Given the description of an element on the screen output the (x, y) to click on. 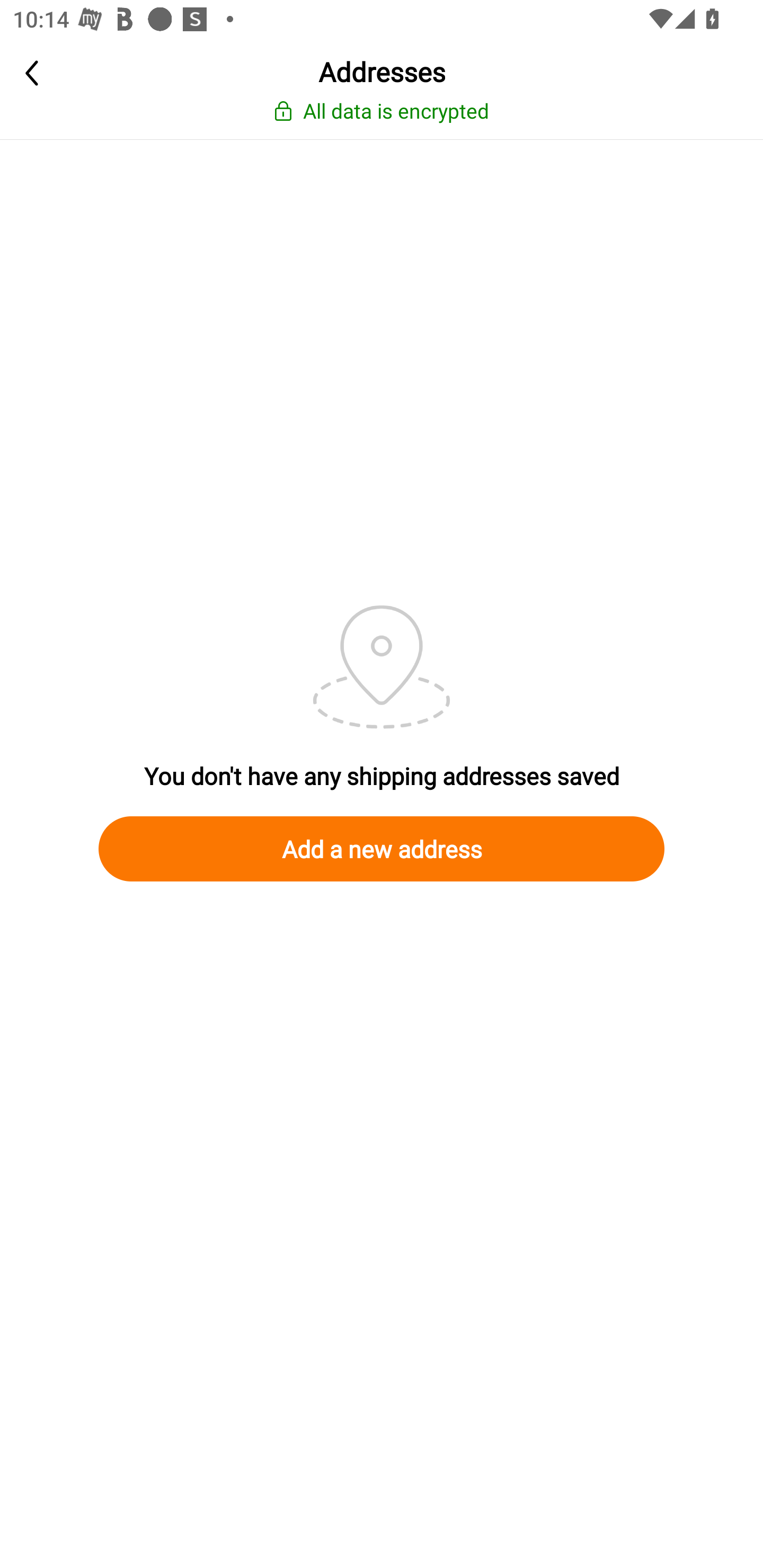
back (63, 72)
Add a new address (381, 848)
